Given the description of an element on the screen output the (x, y) to click on. 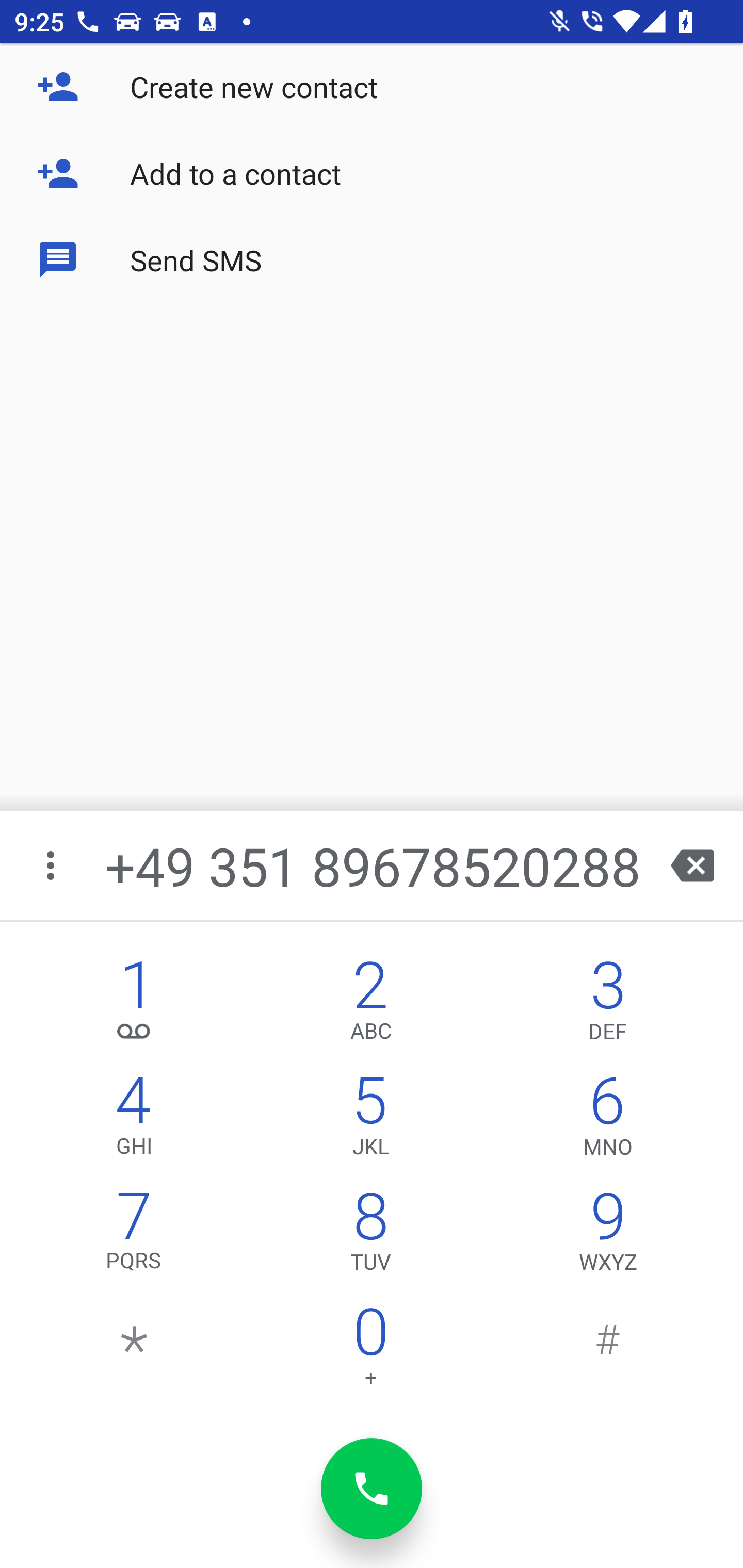
Create new contact (371, 86)
Add to a contact (371, 173)
Send SMS (371, 259)
+49 351 89678520288 (372, 865)
backspace (692, 865)
More options (52, 865)
1, 1 (133, 1005)
2,ABC 2 ABC (370, 1005)
3,DEF 3 DEF (607, 1005)
4,GHI 4 GHI (133, 1120)
5,JKL 5 JKL (370, 1120)
6,MNO 6 MNO (607, 1120)
7,PQRS 7 PQRS (133, 1235)
8,TUV 8 TUV (370, 1235)
9,WXYZ 9 WXYZ (607, 1235)
* (133, 1351)
0 0 + (370, 1351)
# (607, 1351)
dial (371, 1488)
